Given the description of an element on the screen output the (x, y) to click on. 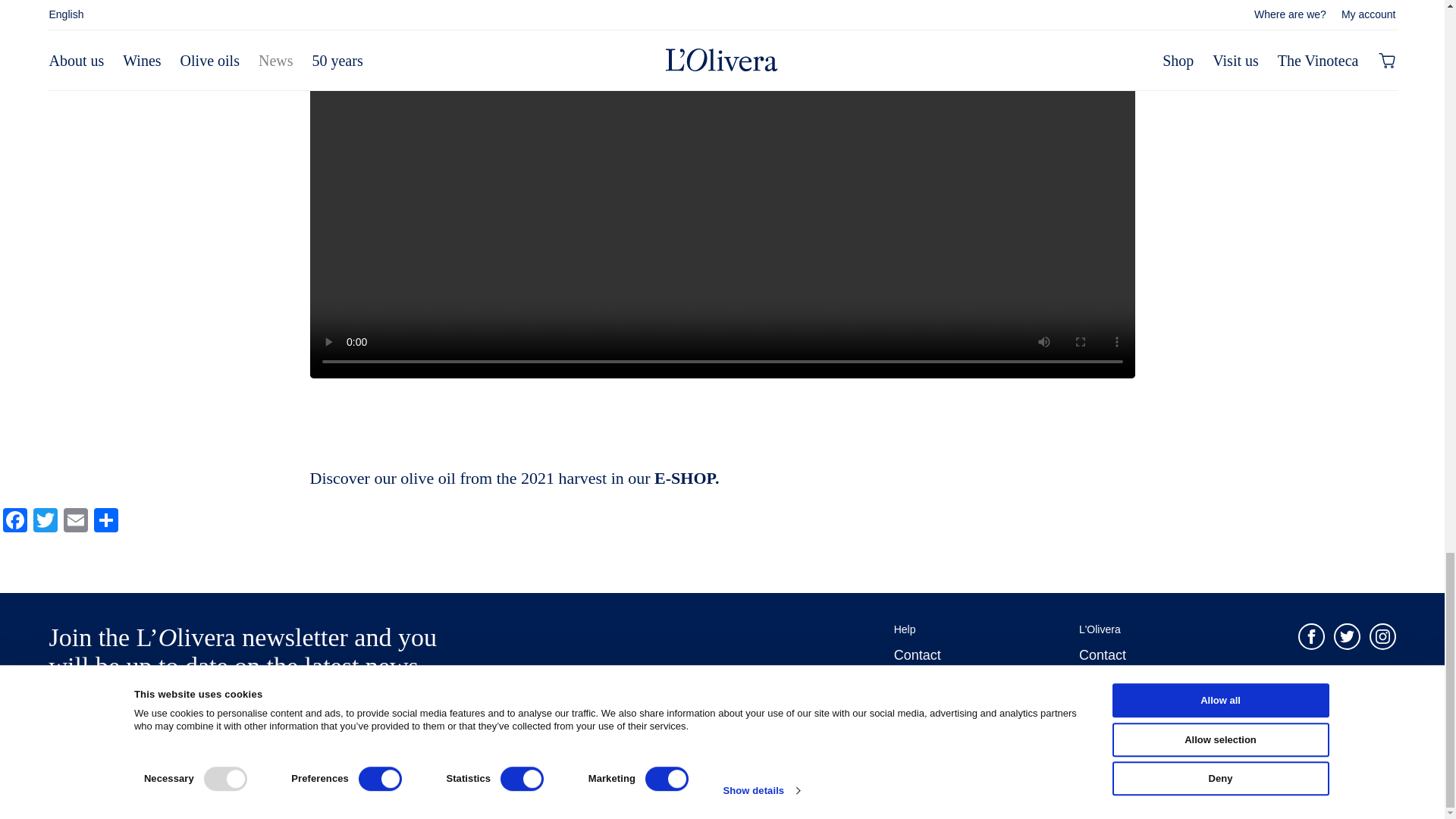
Subscribe (397, 712)
Facebook (15, 521)
Email (75, 521)
Twitter (45, 521)
